Given the description of an element on the screen output the (x, y) to click on. 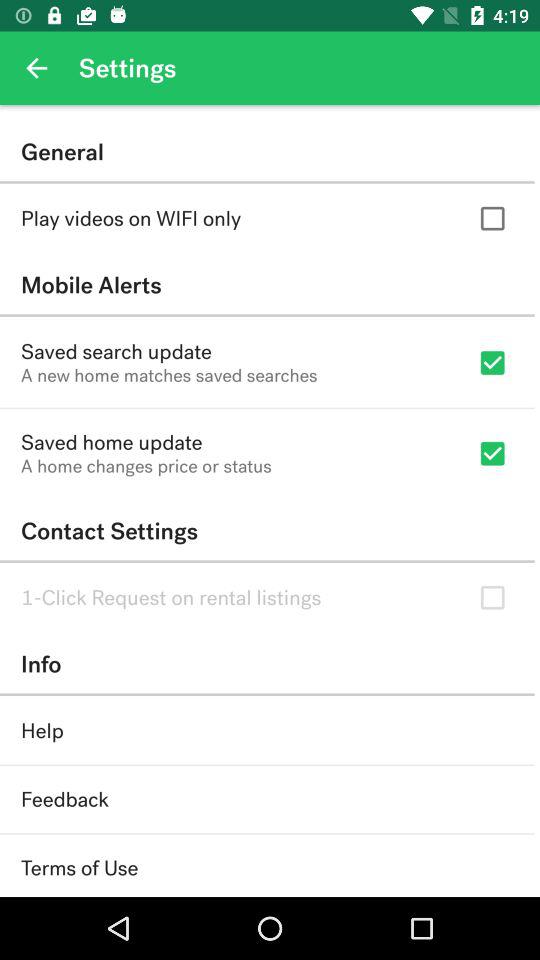
choose the item to the left of settings app (36, 68)
